Given the description of an element on the screen output the (x, y) to click on. 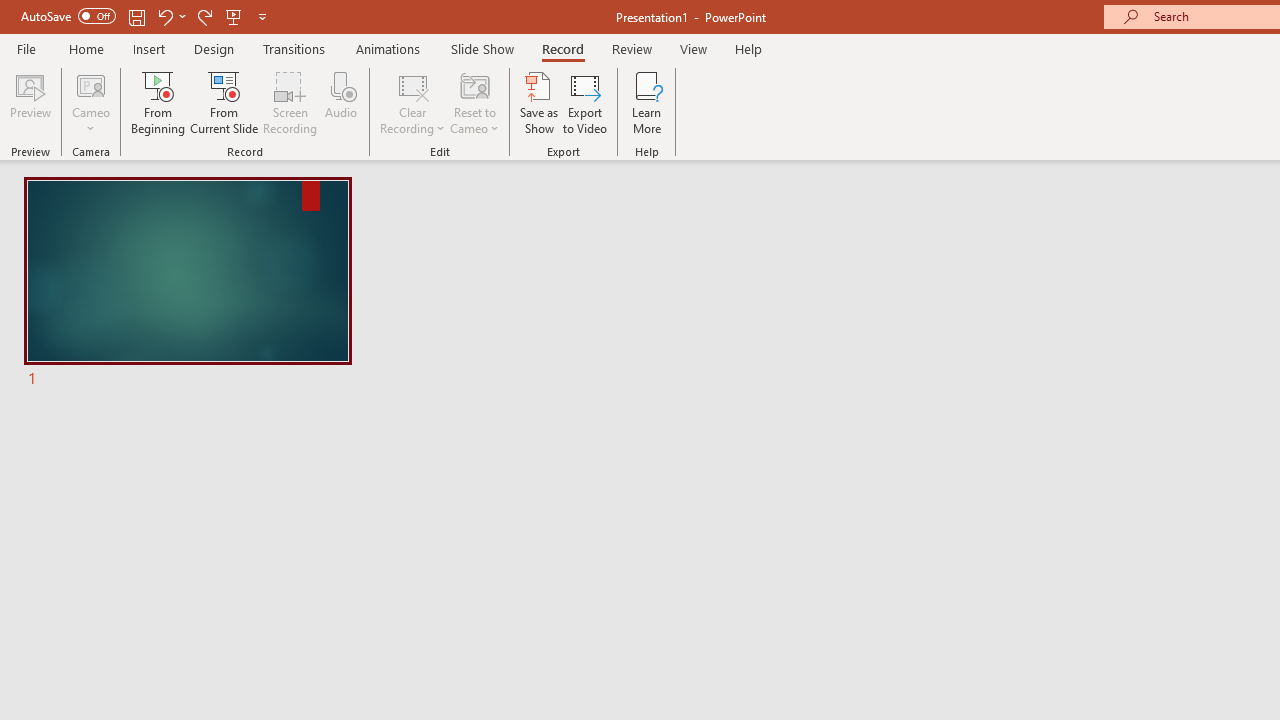
Save as Show (539, 102)
Reset to Cameo (474, 102)
